Given the description of an element on the screen output the (x, y) to click on. 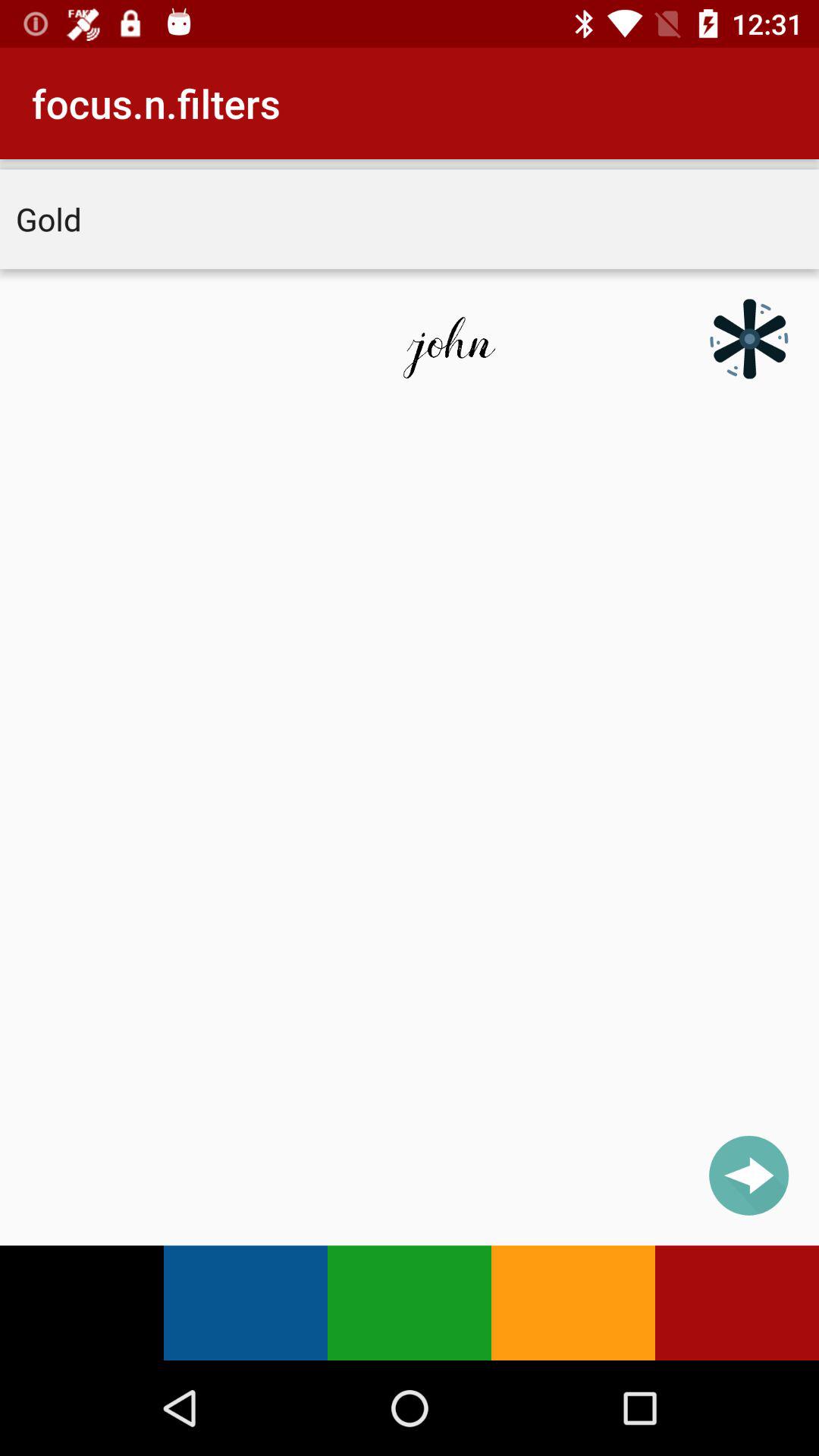
click the icon below gold item (748, 338)
